Given the description of an element on the screen output the (x, y) to click on. 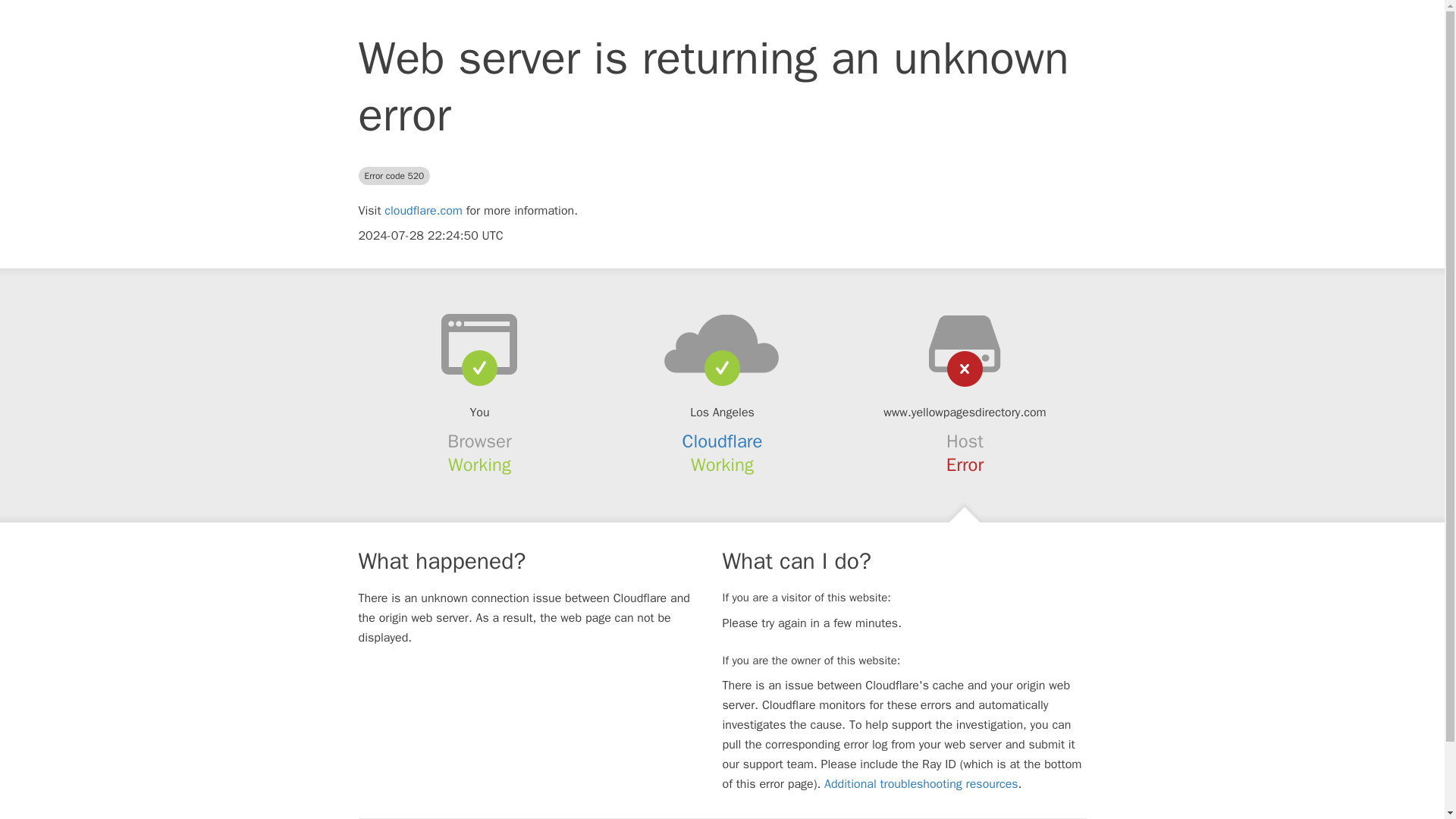
Additional troubleshooting resources (920, 783)
Cloudflare (722, 440)
cloudflare.com (423, 210)
